Given the description of an element on the screen output the (x, y) to click on. 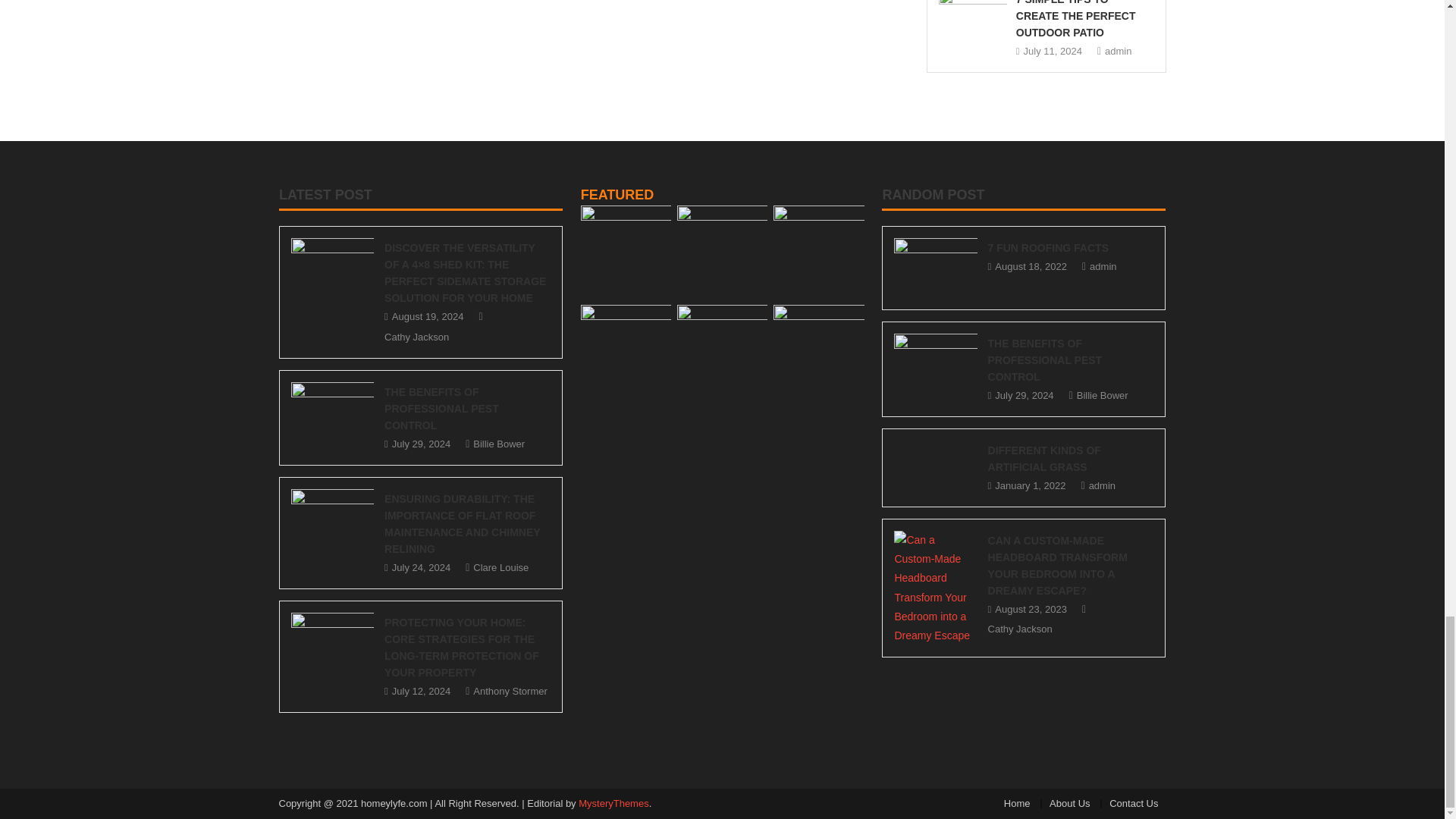
The Benefits of Professional Pest Control (332, 411)
7 Simple Tips to Create the Perfect Outdoor Patio (973, 19)
The Benefits of Professional Pest Control (934, 363)
7 Fun Roofing Facts (934, 267)
